Given the description of an element on the screen output the (x, y) to click on. 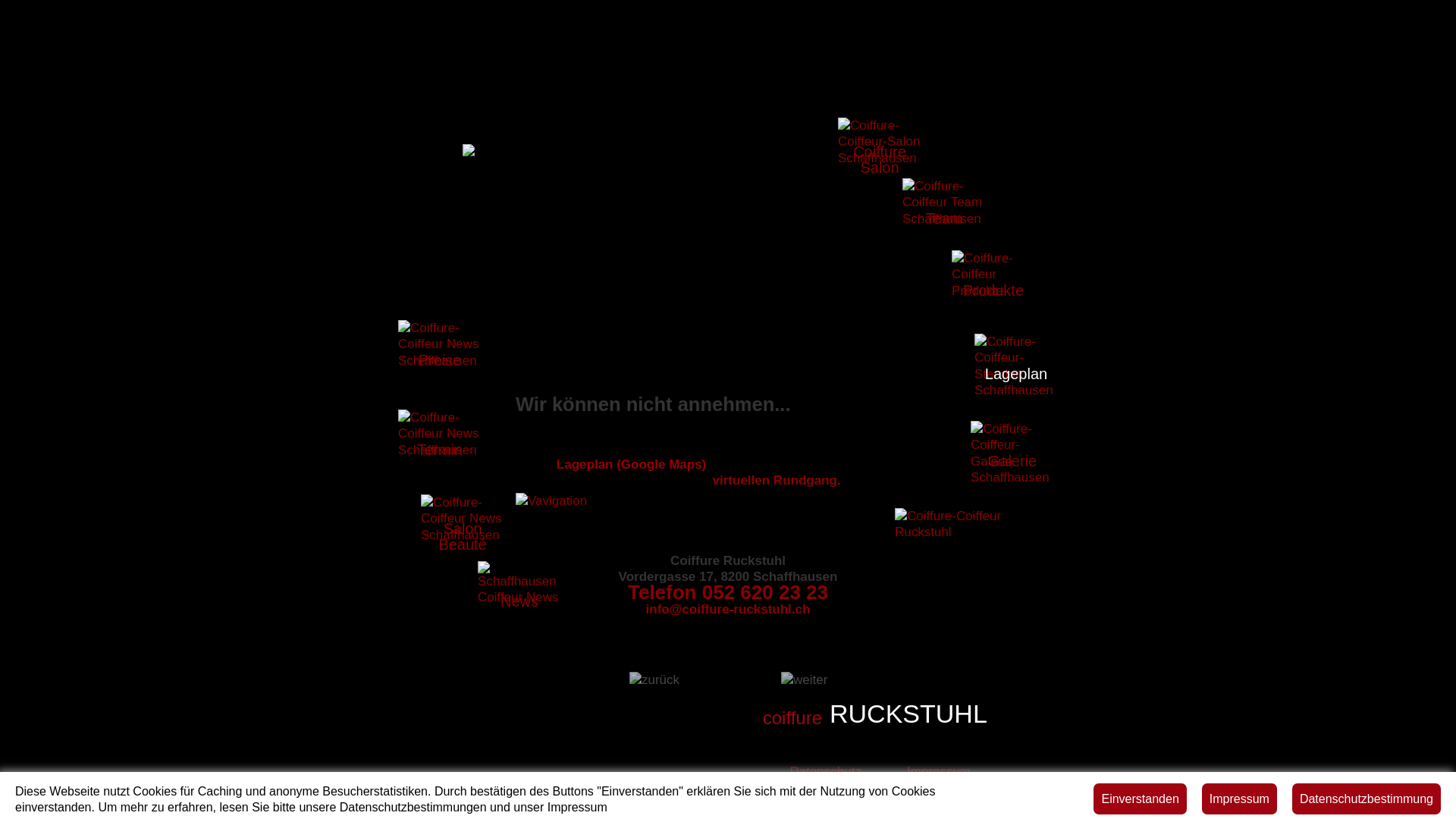
Impressum Element type: text (1239, 797)
info@coiffure-ruckstuhl.ch Element type: text (728, 609)
Impressum Element type: text (938, 771)
virtuellen Rundgang. Element type: text (774, 480)
Telefon 052 620 23 23 Element type: text (727, 591)
Datenschutz Element type: text (825, 771)
Datenschutzbestimmung Element type: text (1366, 797)
